Given the description of an element on the screen output the (x, y) to click on. 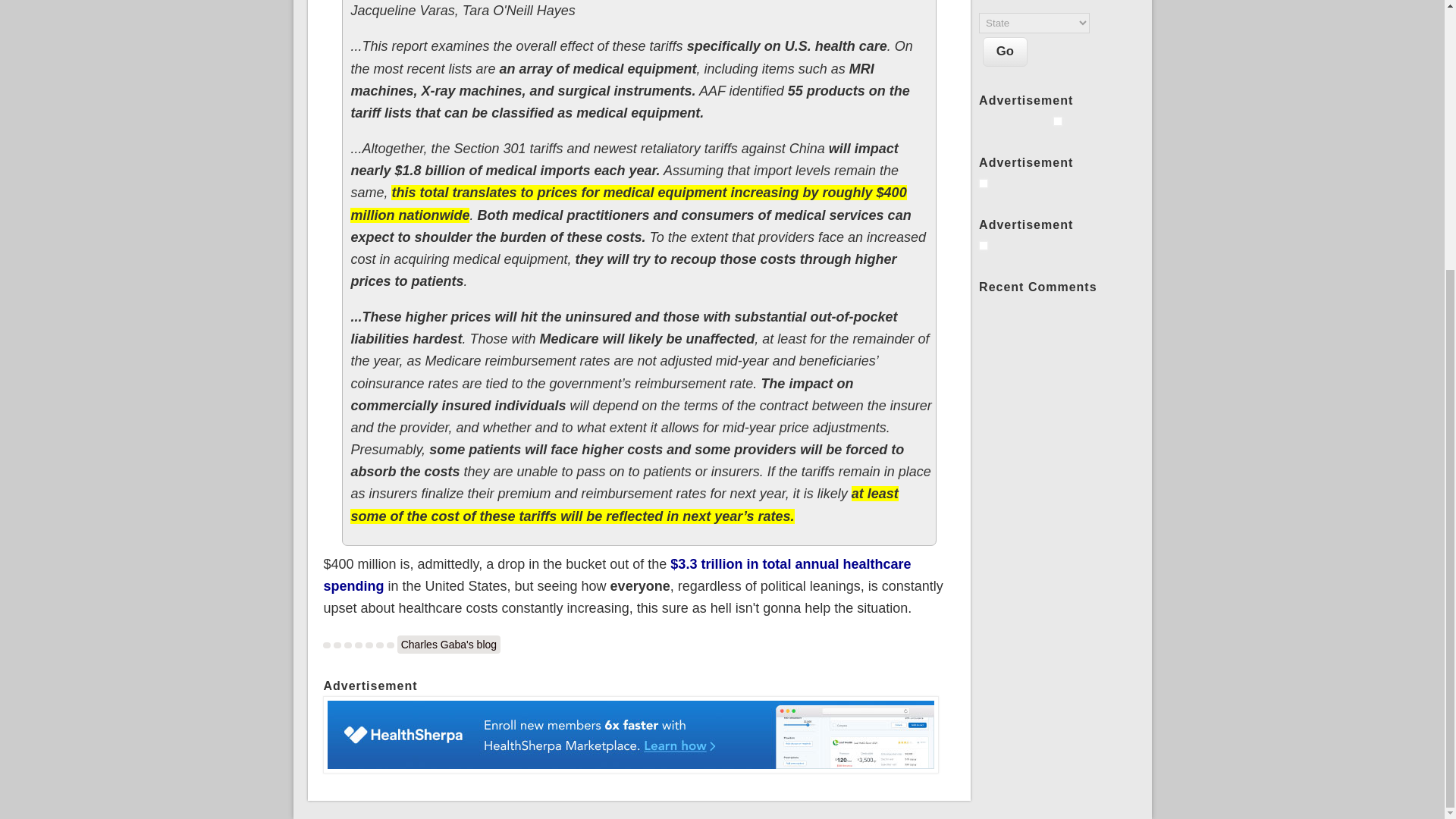
Go (1004, 51)
